Given the description of an element on the screen output the (x, y) to click on. 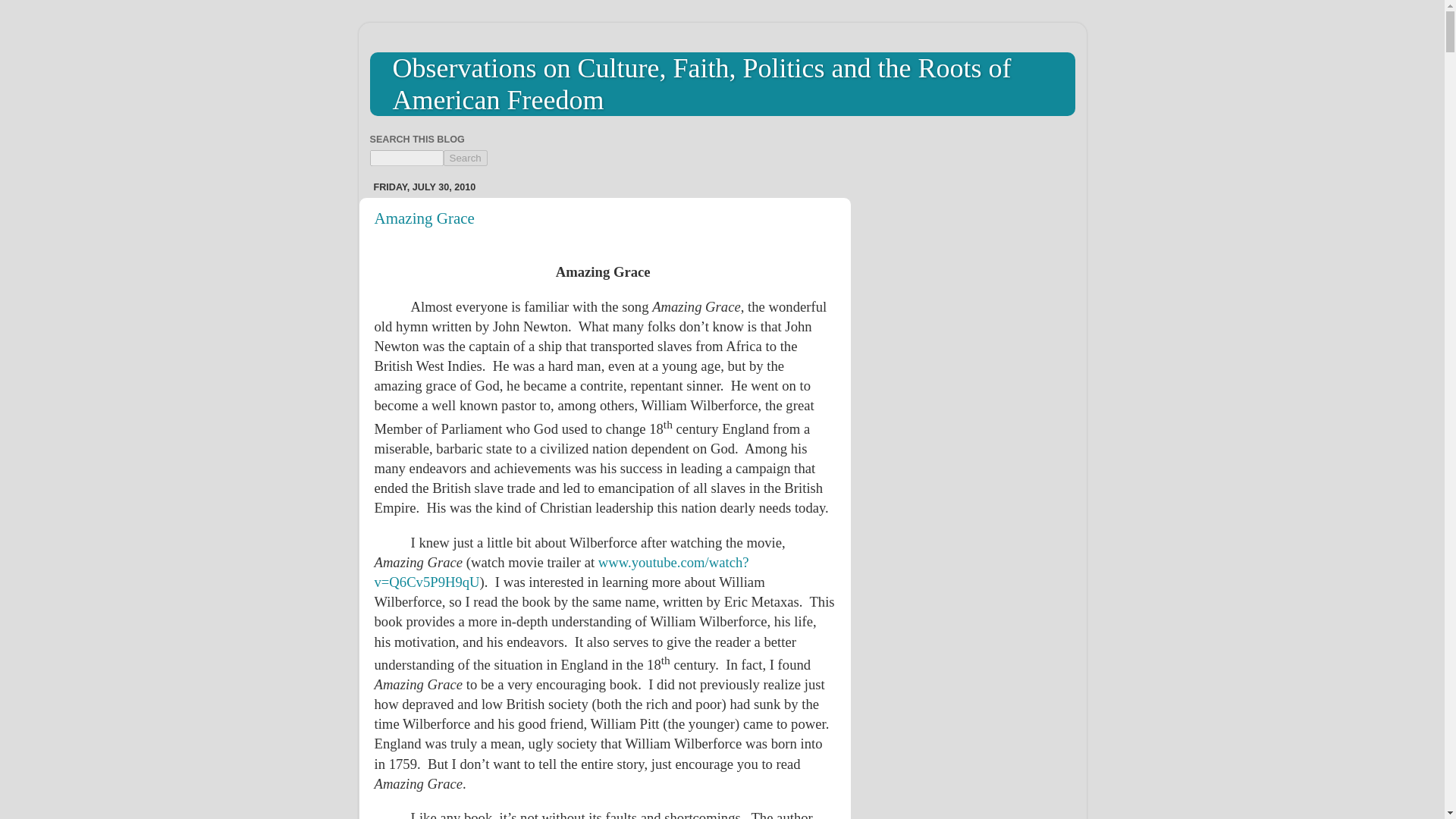
search (464, 157)
Search (464, 157)
Search (464, 157)
Amazing Grace (424, 218)
search (406, 157)
Search (464, 157)
